Given the description of an element on the screen output the (x, y) to click on. 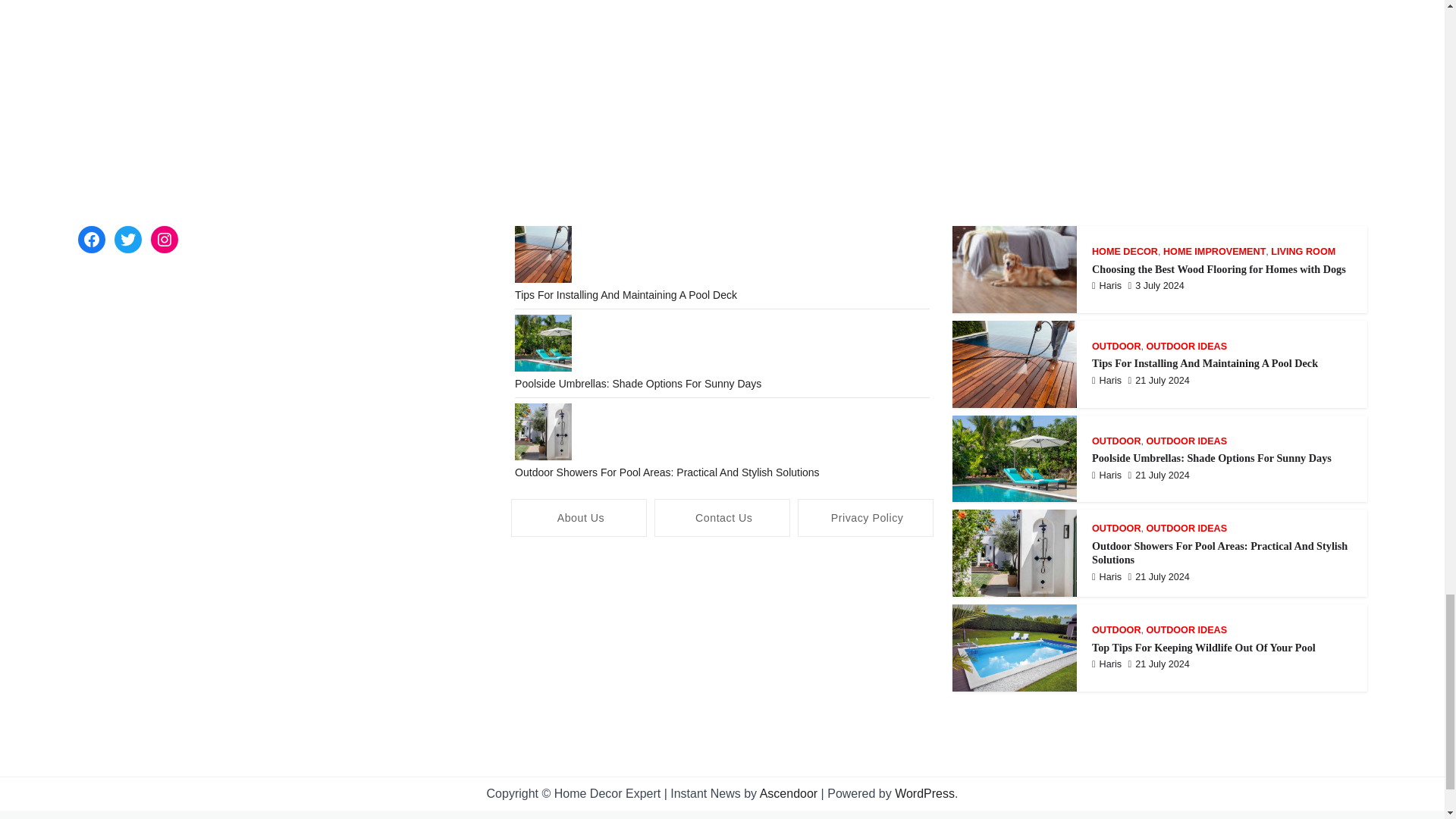
Instagram (163, 239)
About Us (578, 517)
Facebook (90, 239)
Twitter (127, 239)
Poolside Umbrellas: Shade Options For Sunny Days (638, 383)
Tips For Installing And Maintaining A Pool Deck (625, 295)
Advertisement (722, 662)
Contact Us (721, 517)
